Given the description of an element on the screen output the (x, y) to click on. 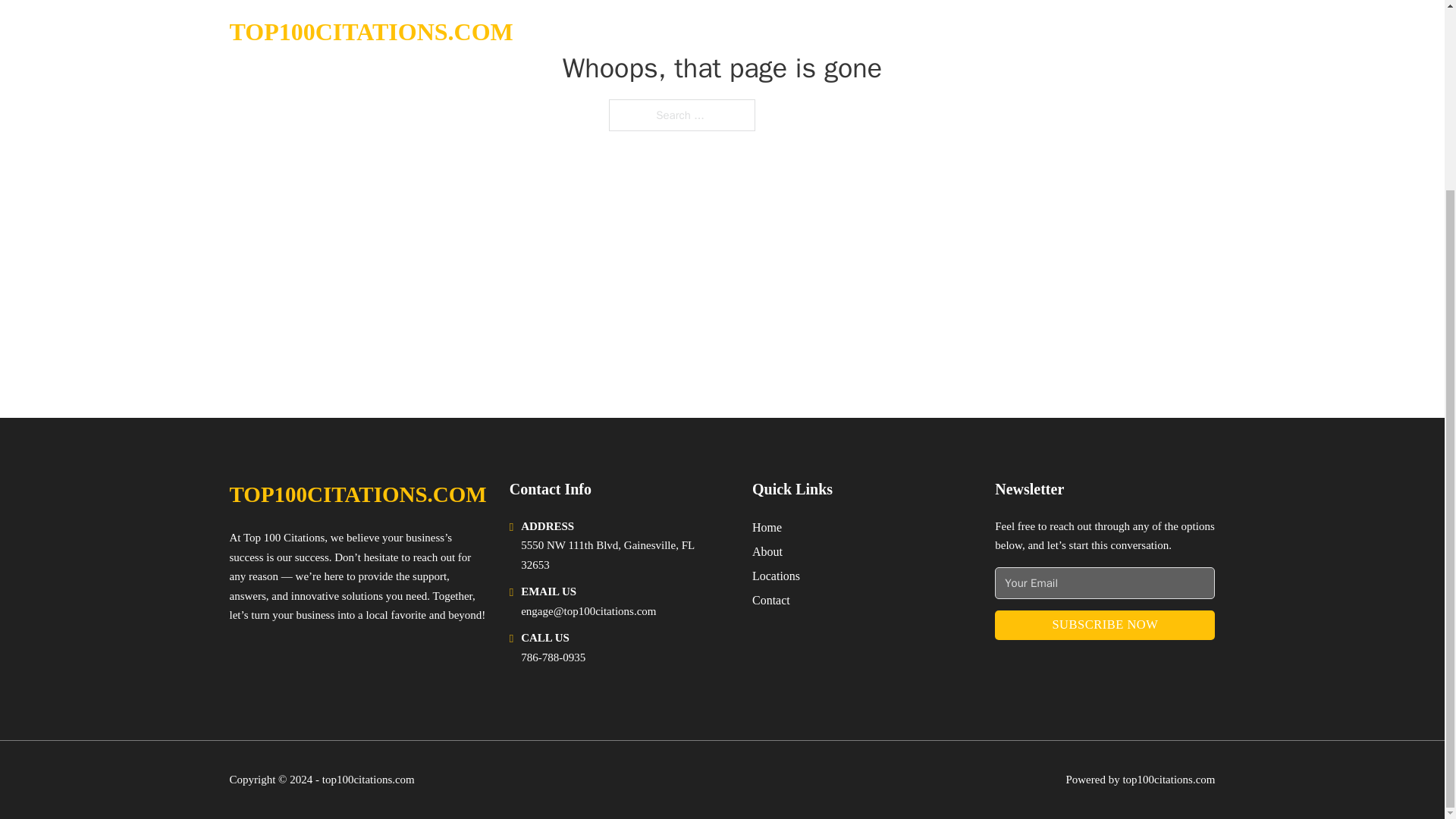
TOP100CITATIONS.COM (357, 494)
Contact (771, 599)
SUBSCRIBE NOW (1104, 624)
Home (766, 526)
Locations (775, 575)
About (767, 551)
786-788-0935 (553, 657)
